Given the description of an element on the screen output the (x, y) to click on. 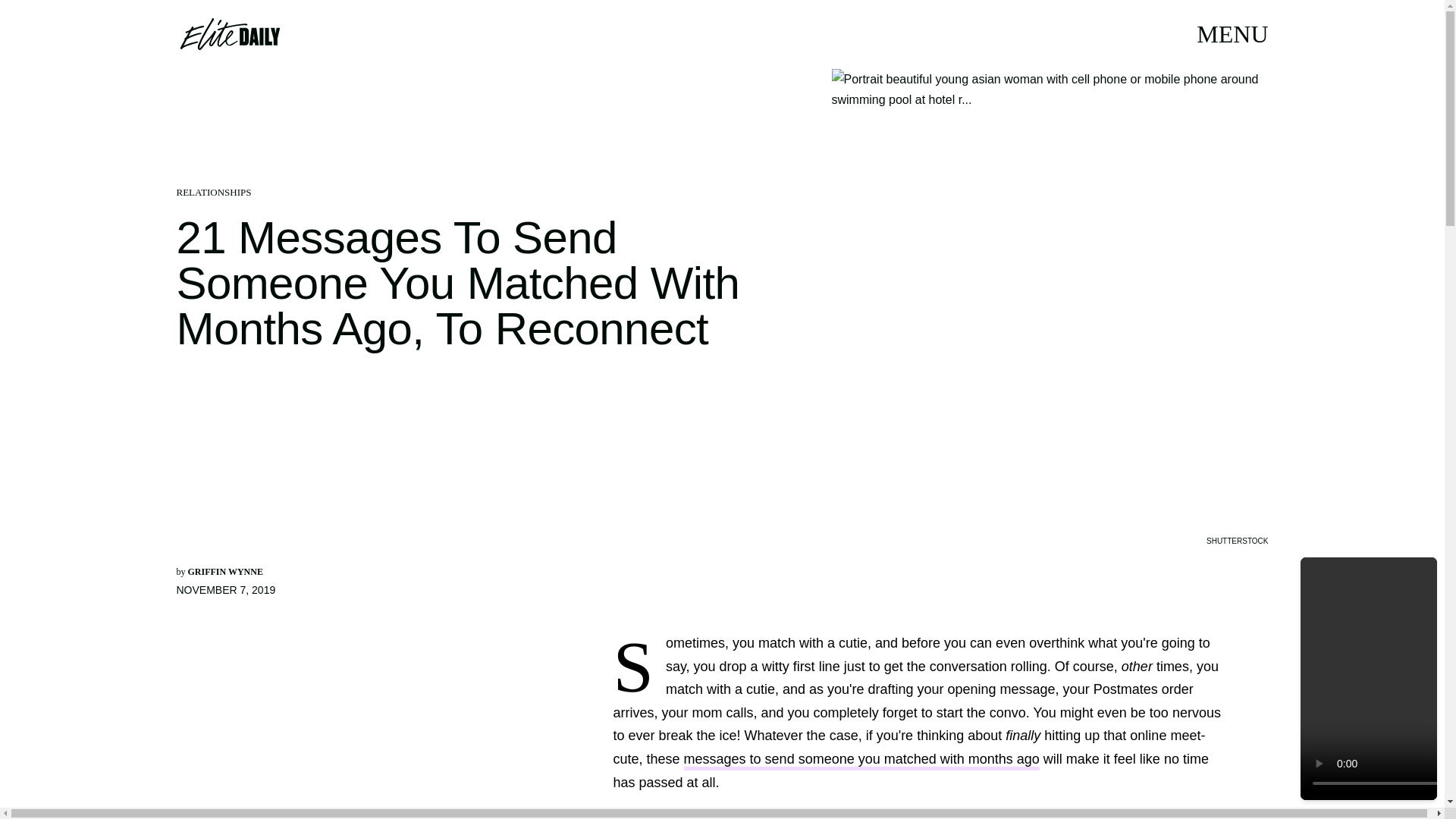
Elite Daily (229, 33)
messages to send someone you matched with months ago (861, 760)
GRIFFIN WYNNE (225, 571)
